Given the description of an element on the screen output the (x, y) to click on. 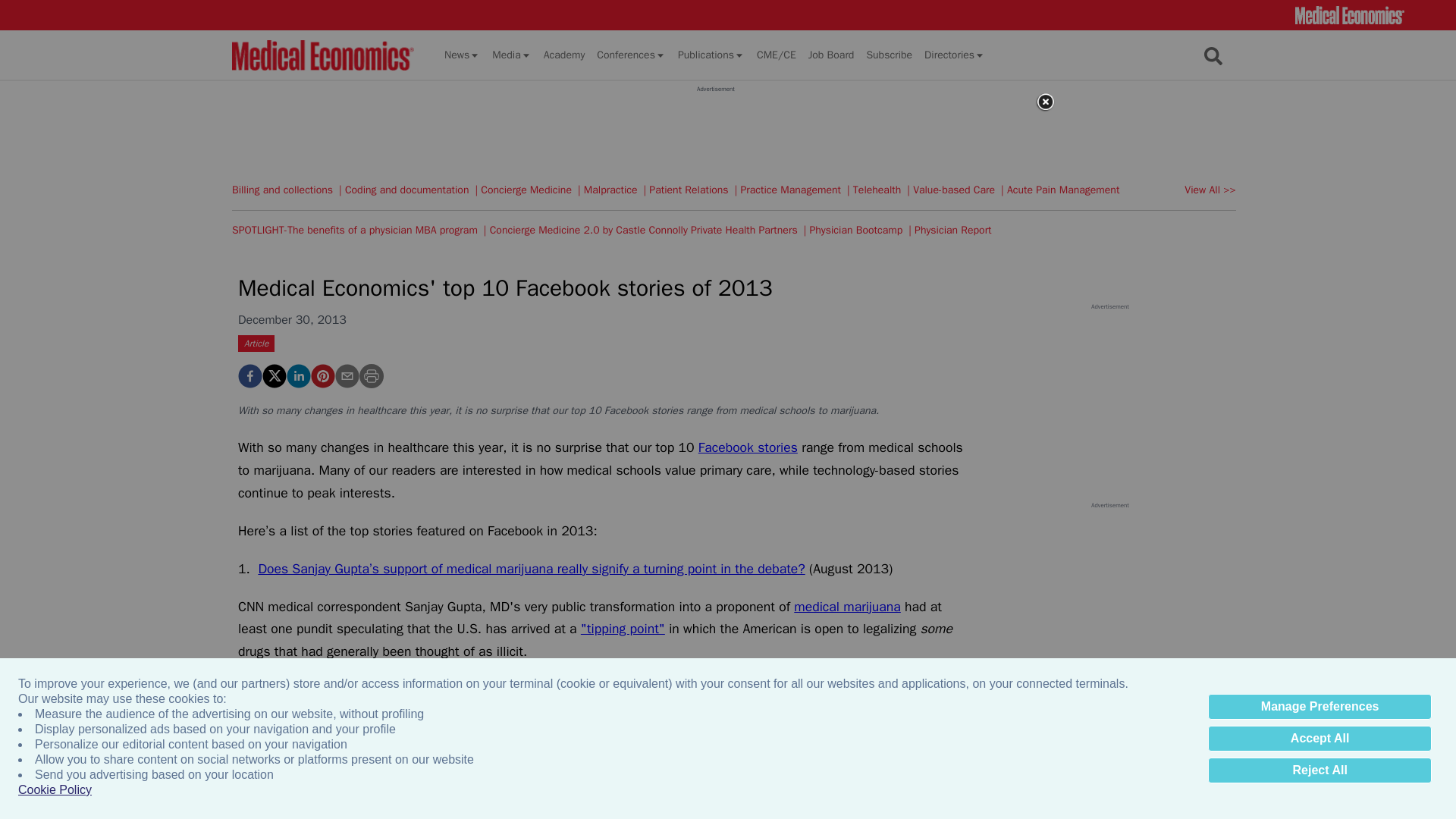
3rd party ad content (715, 127)
Manage Preferences (1319, 706)
Cookie Policy (54, 789)
Medical Economics' top 10 Facebook stories of 2013 (250, 375)
Academy (564, 54)
Medical Economics' top 10 Facebook stories of 2013 (322, 375)
Accept All (1319, 738)
Reject All (1319, 769)
